Given the description of an element on the screen output the (x, y) to click on. 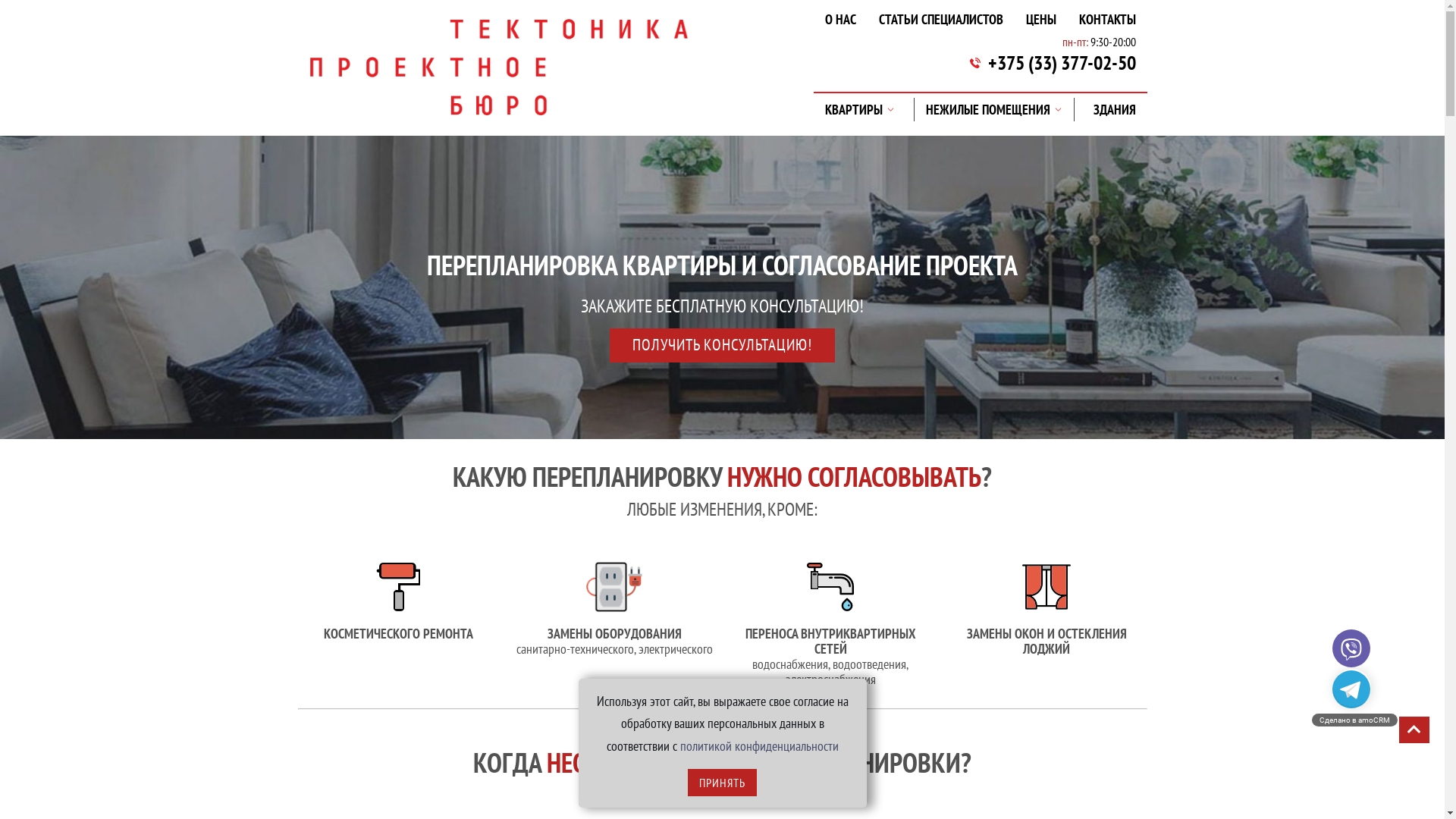
+375 (33) 377-02-50 Element type: text (1061, 62)
